Given the description of an element on the screen output the (x, y) to click on. 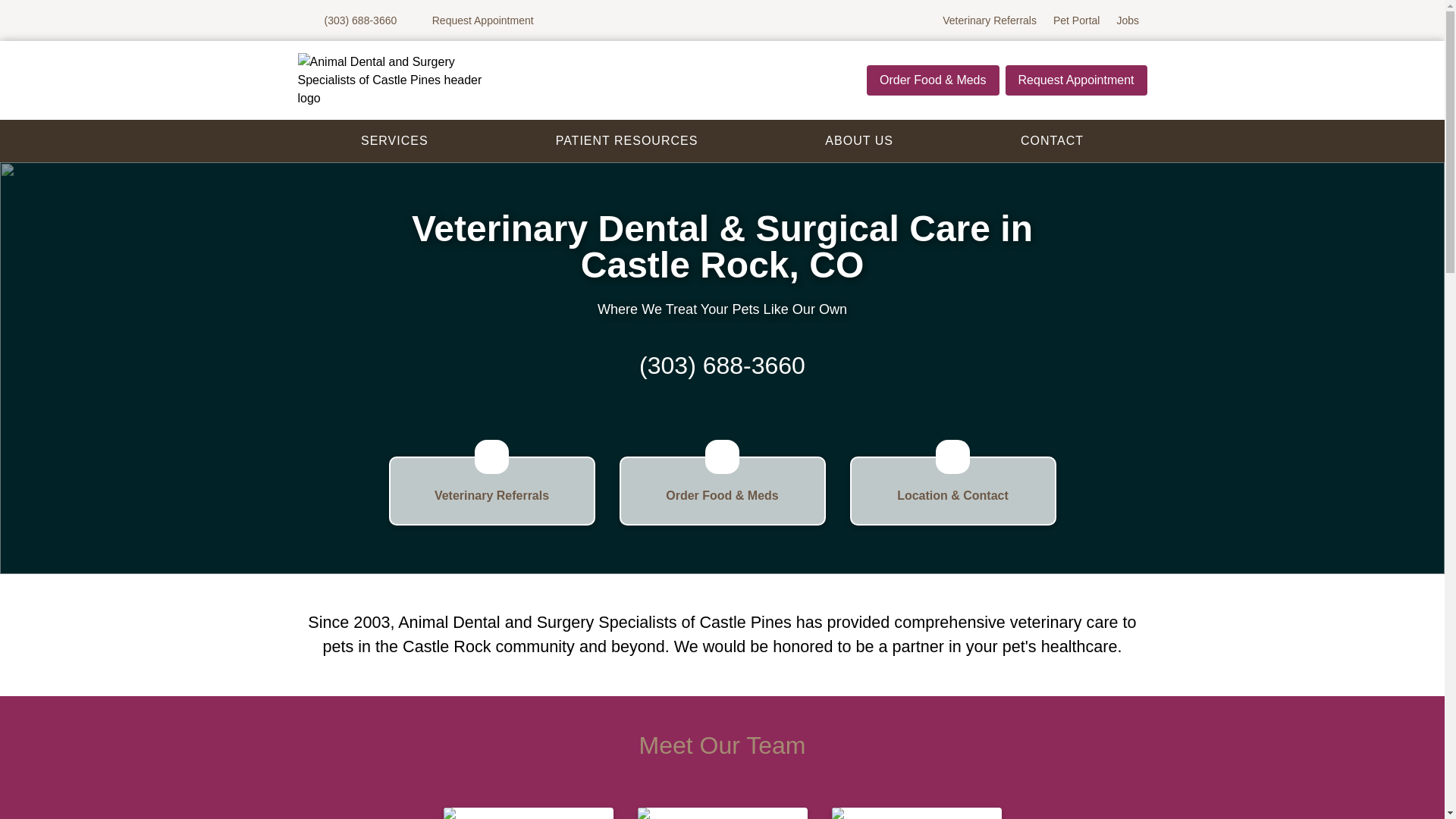
Pet Portal (1075, 20)
Request Appointment (1076, 80)
Veterinary Referrals (989, 20)
SERVICES (721, 813)
PATIENT RESOURCES (916, 813)
Request Appointment (394, 141)
ABOUT US (626, 141)
